Given the description of an element on the screen output the (x, y) to click on. 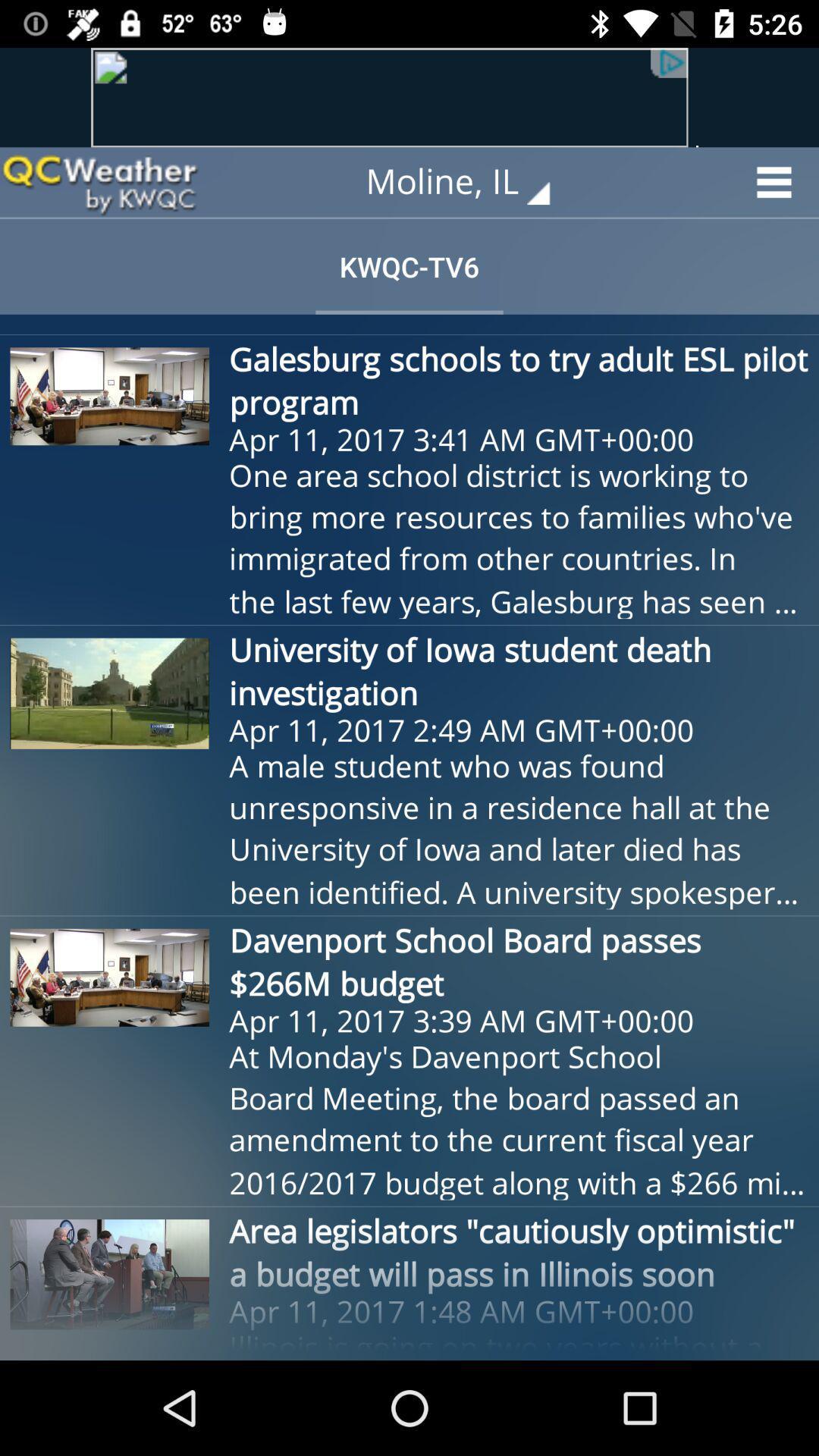
click on advertisement (409, 97)
